Given the description of an element on the screen output the (x, y) to click on. 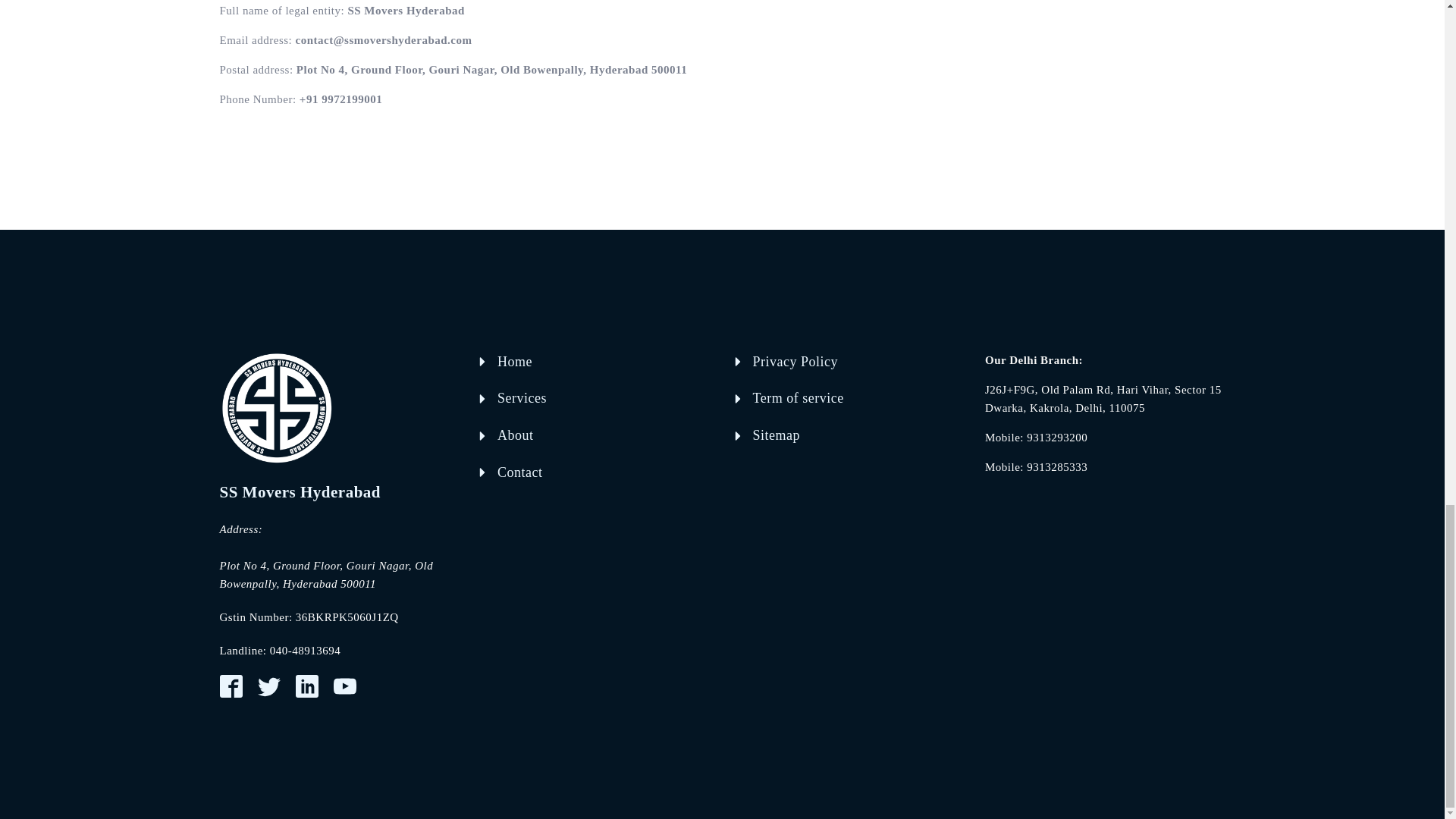
Mobile: 9313293200 (1036, 437)
Contact (520, 472)
Home (514, 362)
Services (522, 398)
Privacy Policy (795, 362)
Sitemap (775, 435)
About (515, 435)
Term of service (797, 398)
Landline: 040-48913694 (279, 650)
Mobile: 9313285333 (1036, 466)
